Given the description of an element on the screen output the (x, y) to click on. 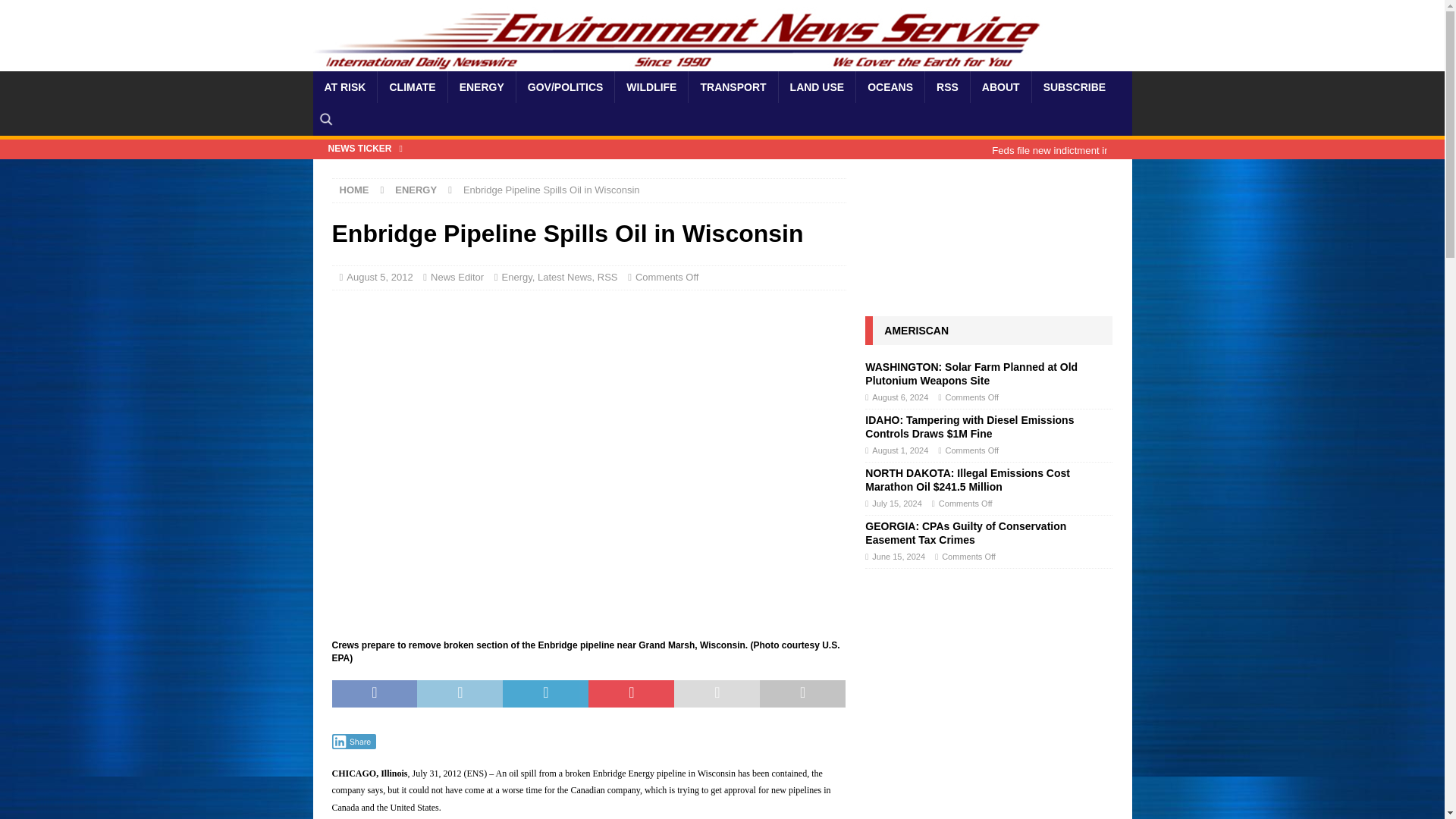
AT RISK (345, 87)
CLIMATE (411, 87)
TRANSPORT (732, 87)
ENERGY (480, 87)
WILDLIFE (650, 87)
SUBSCRIBE (1073, 87)
ABOUT (999, 87)
RSS (946, 87)
ENERGY (415, 189)
OCEANS (890, 87)
